Given the description of an element on the screen output the (x, y) to click on. 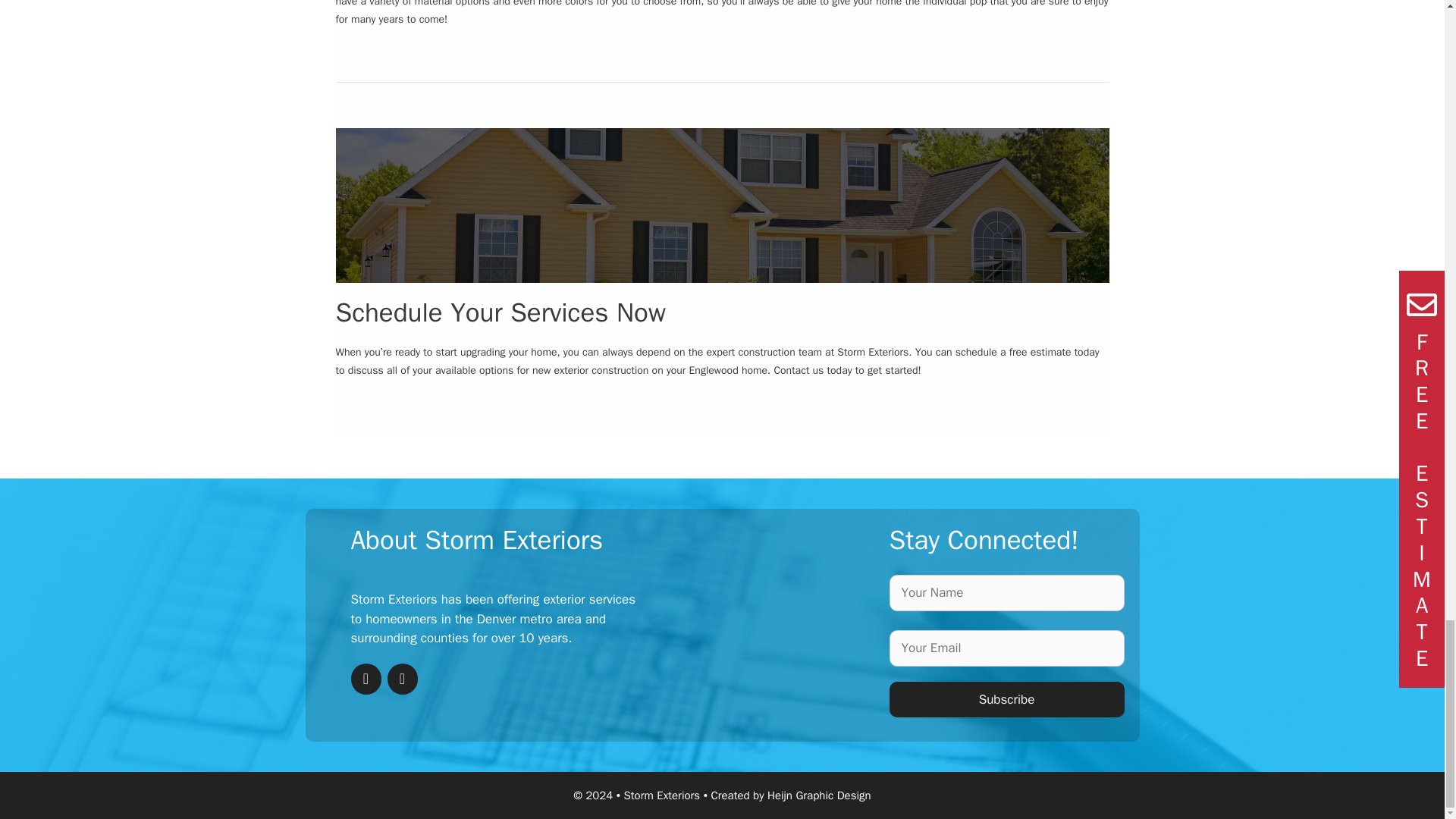
Subscribe (1006, 699)
LinkedIn (401, 678)
Facebook (365, 678)
